Given the description of an element on the screen output the (x, y) to click on. 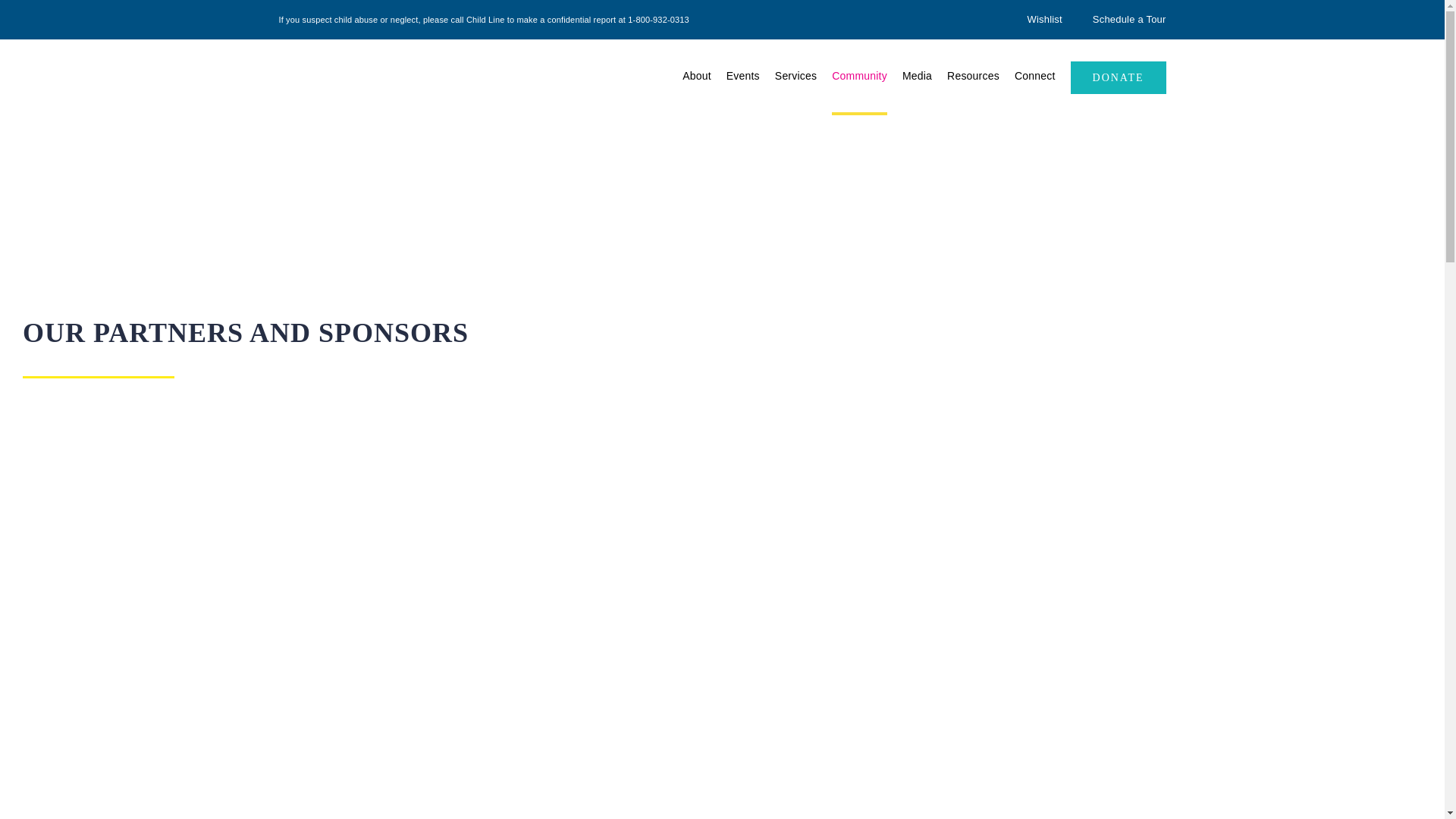
Schedule a Tour (1129, 19)
DONATE (1118, 77)
